Given the description of an element on the screen output the (x, y) to click on. 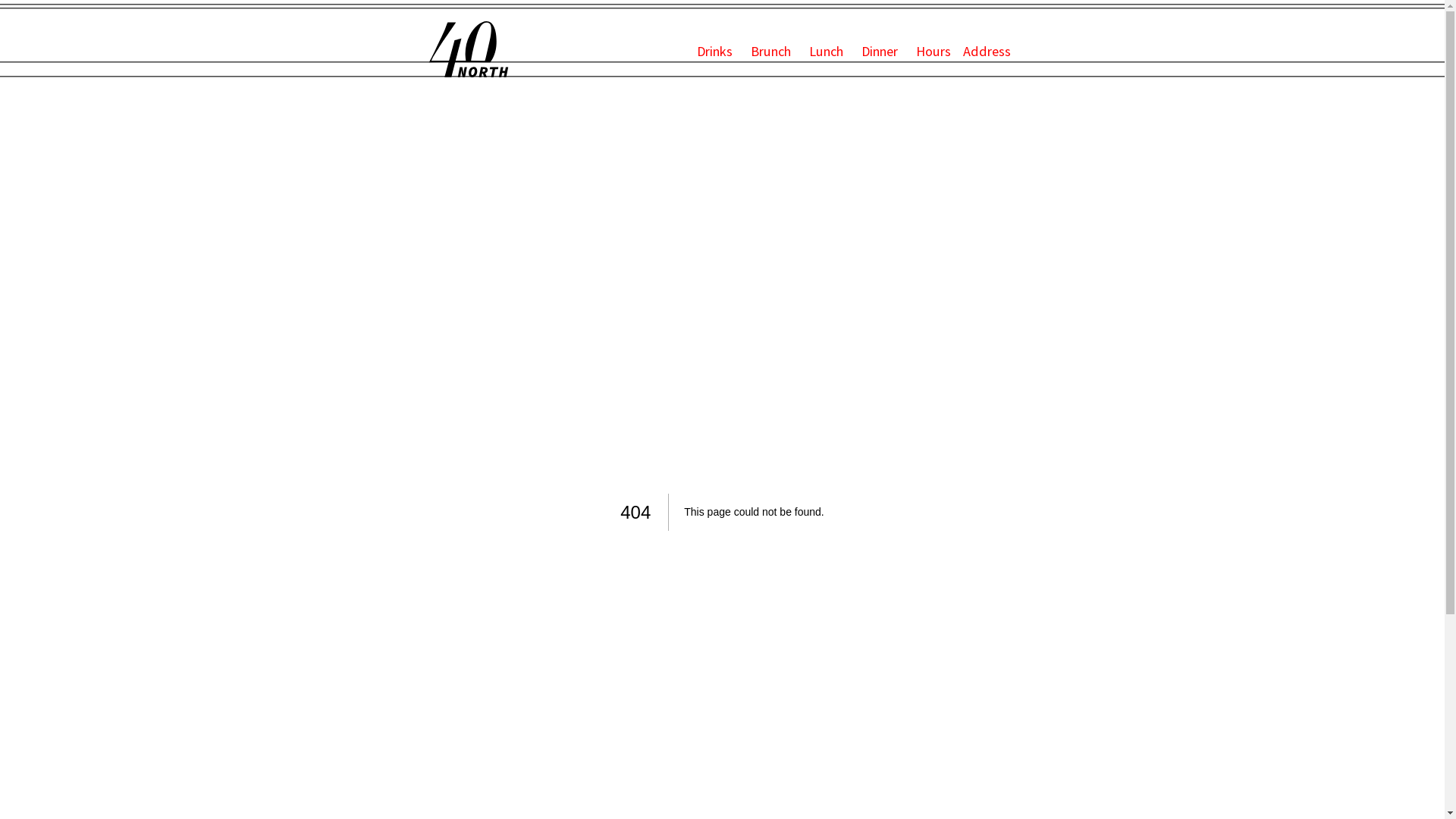
Address Element type: text (986, 50)
Drinks Element type: text (716, 50)
Hours Element type: text (933, 50)
Brunch Element type: text (773, 50)
Lunch Element type: text (828, 50)
Dinner Element type: text (882, 50)
